Given the description of an element on the screen output the (x, y) to click on. 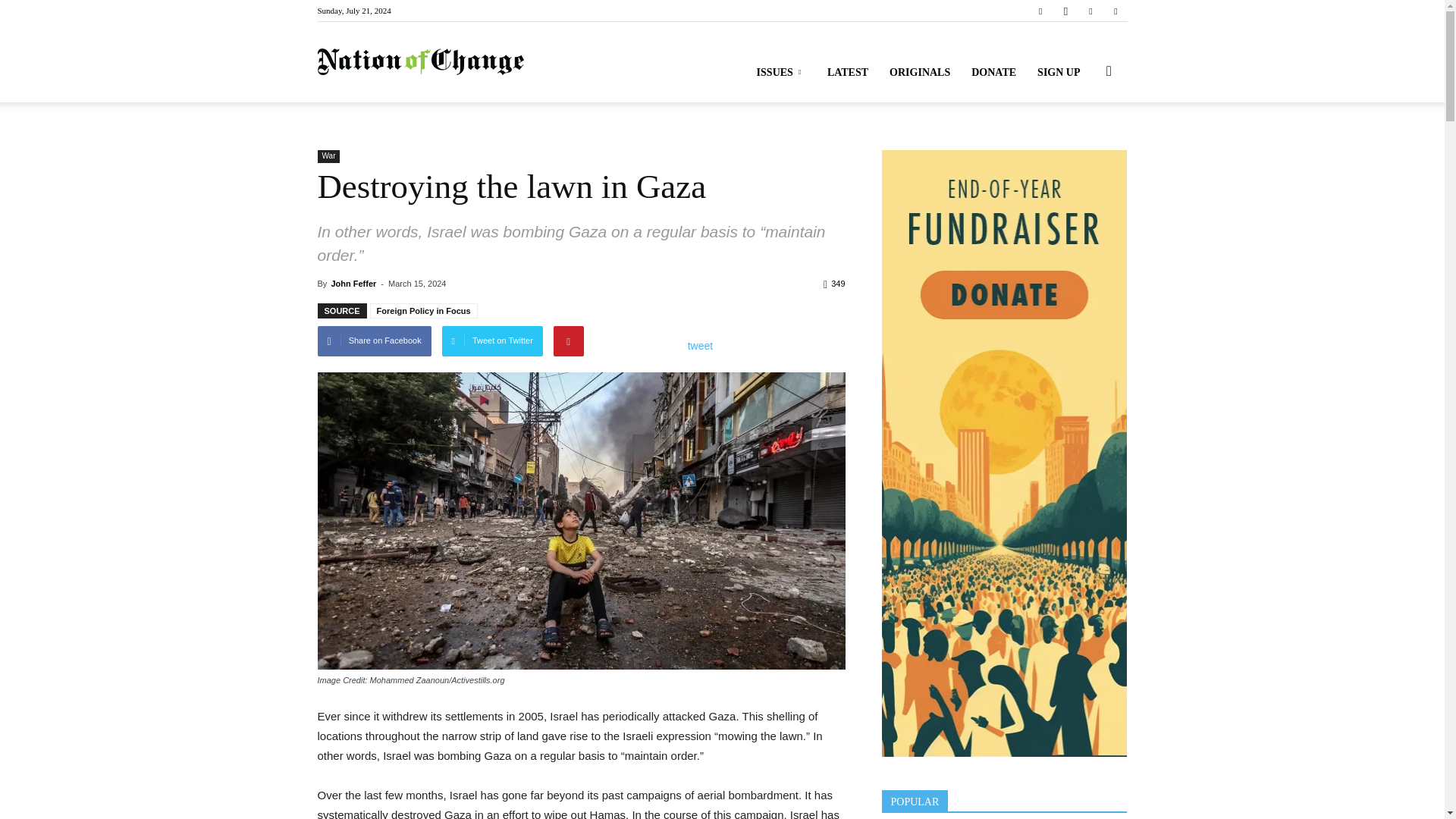
Instagram (1065, 10)
Facebook (1040, 10)
Twitter (1090, 10)
Youtube (1114, 10)
ISSUES (780, 72)
NationofChange (419, 61)
